Given the description of an element on the screen output the (x, y) to click on. 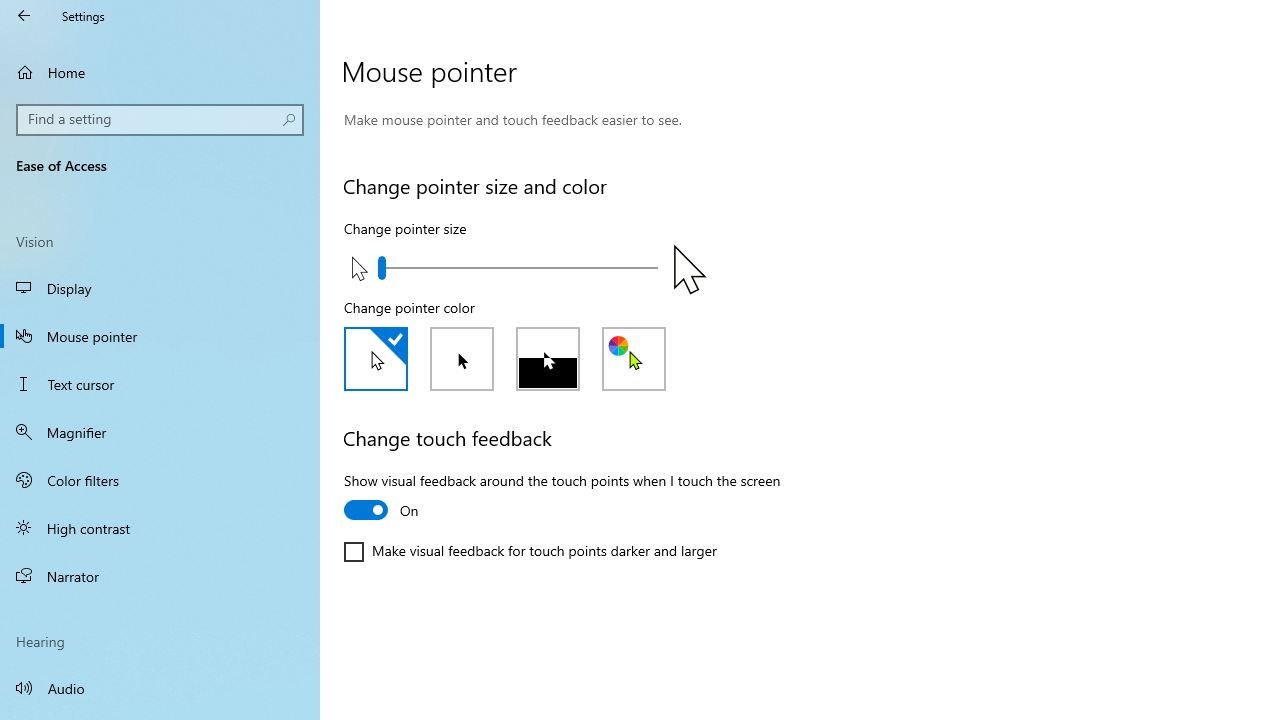
Home (160, 71)
Make visual feedback for touch points darker and larger (530, 551)
Magnifier (160, 431)
